Given the description of an element on the screen output the (x, y) to click on. 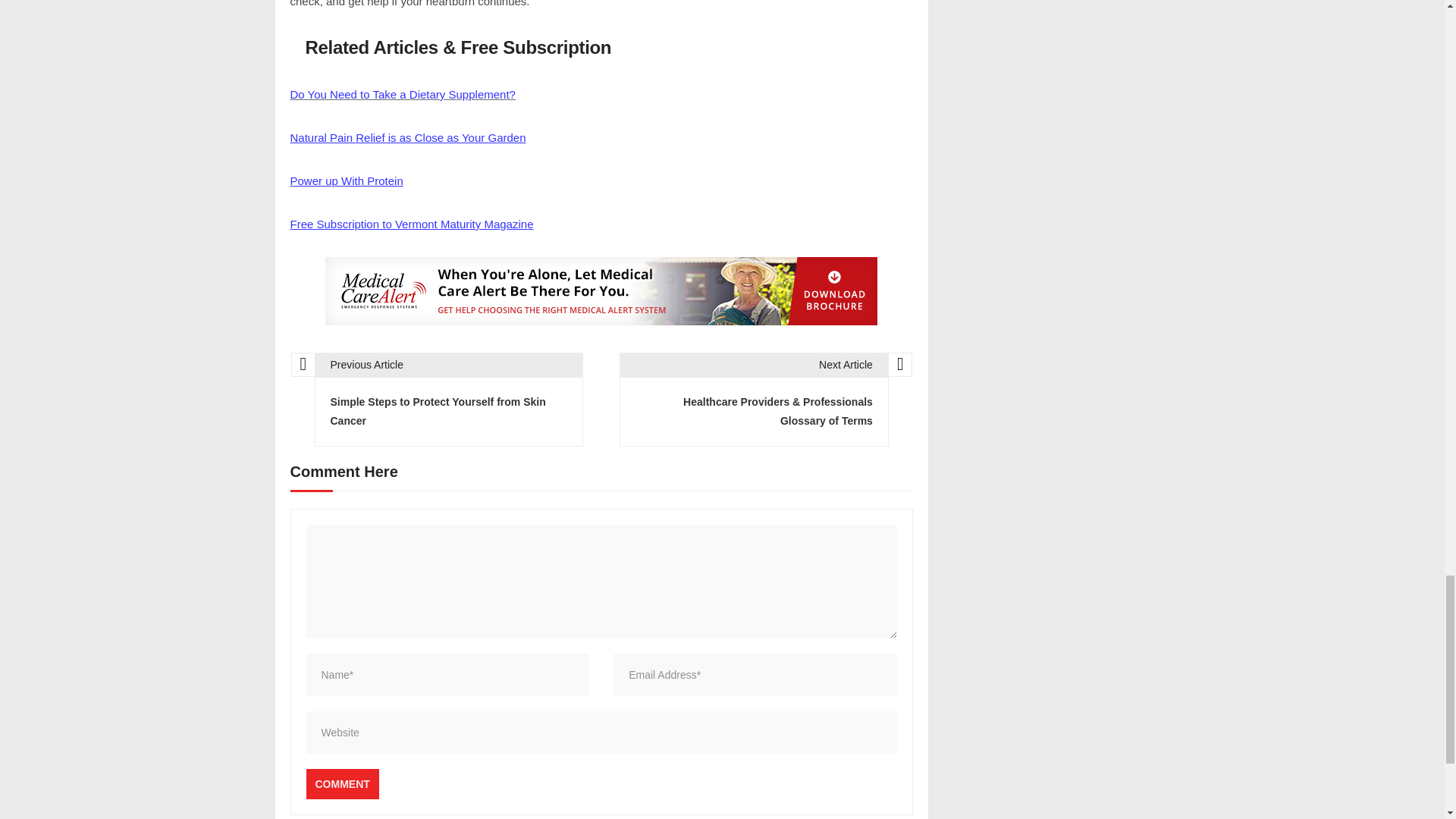
Comment (341, 784)
